Given the description of an element on the screen output the (x, y) to click on. 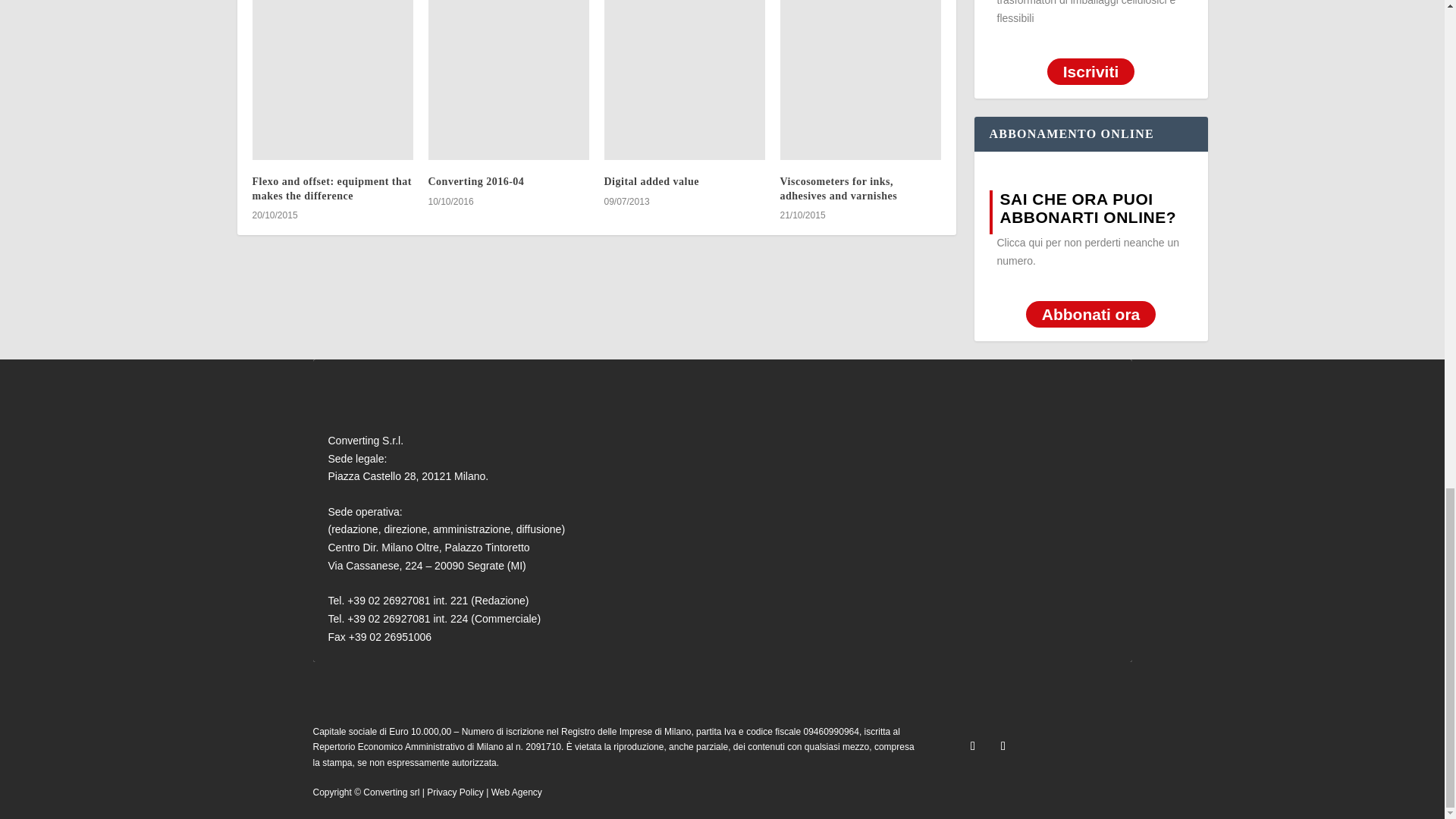
Flexo and offset: equipment that makes the difference (331, 79)
Digital added value (684, 79)
Converting 2016-04 (508, 79)
